Given the description of an element on the screen output the (x, y) to click on. 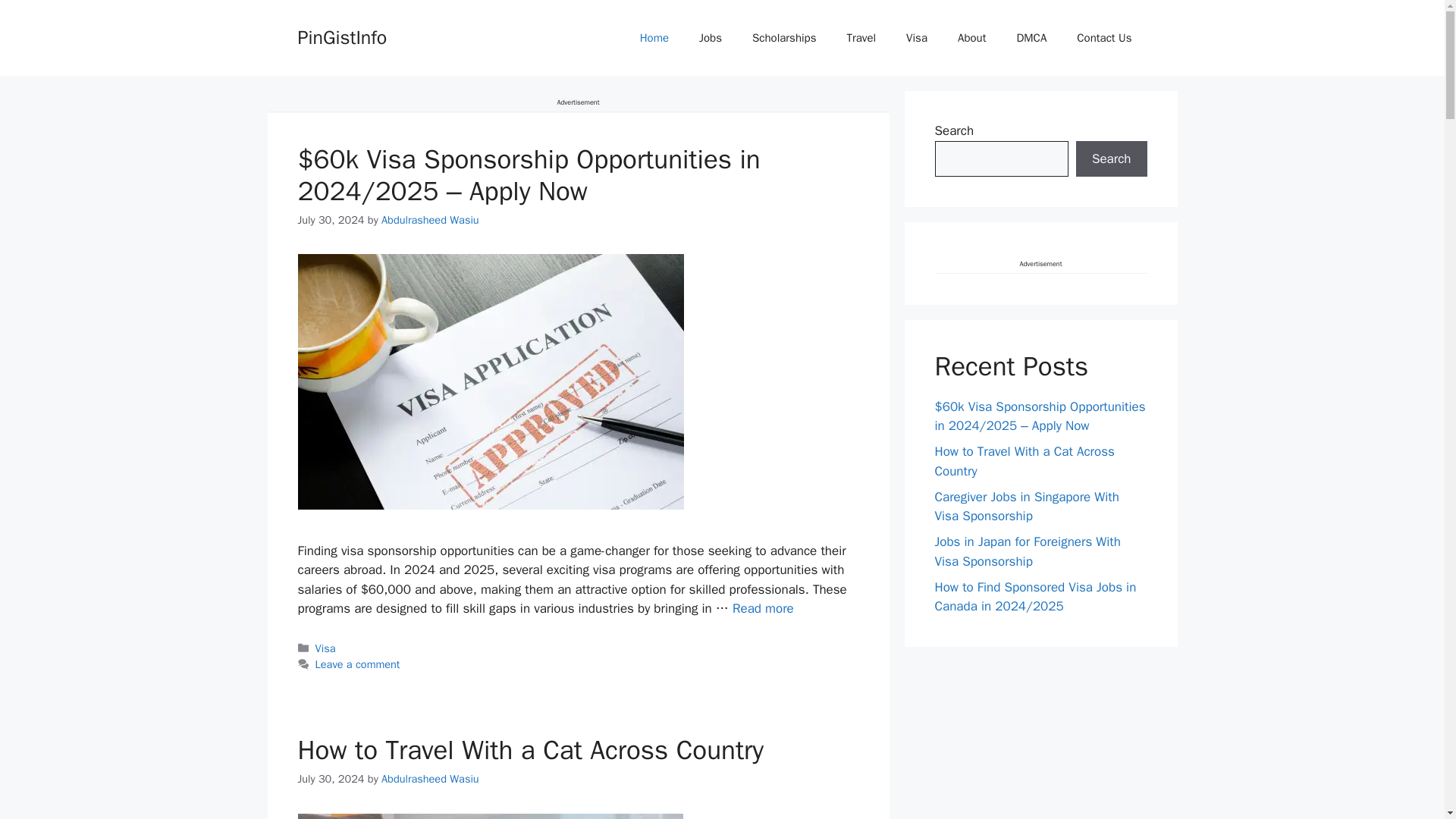
Read more (762, 608)
How to Travel With a Cat Across Country (529, 749)
Visa (325, 648)
Visa (916, 37)
View all posts by Abdulrasheed Wasiu (430, 219)
Jobs (710, 37)
DMCA (1031, 37)
Contact Us (1104, 37)
Travel (861, 37)
About (971, 37)
PinGistInfo (342, 37)
Home (654, 37)
View all posts by Abdulrasheed Wasiu (430, 778)
Abdulrasheed Wasiu (430, 778)
Abdulrasheed Wasiu (430, 219)
